Given the description of an element on the screen output the (x, y) to click on. 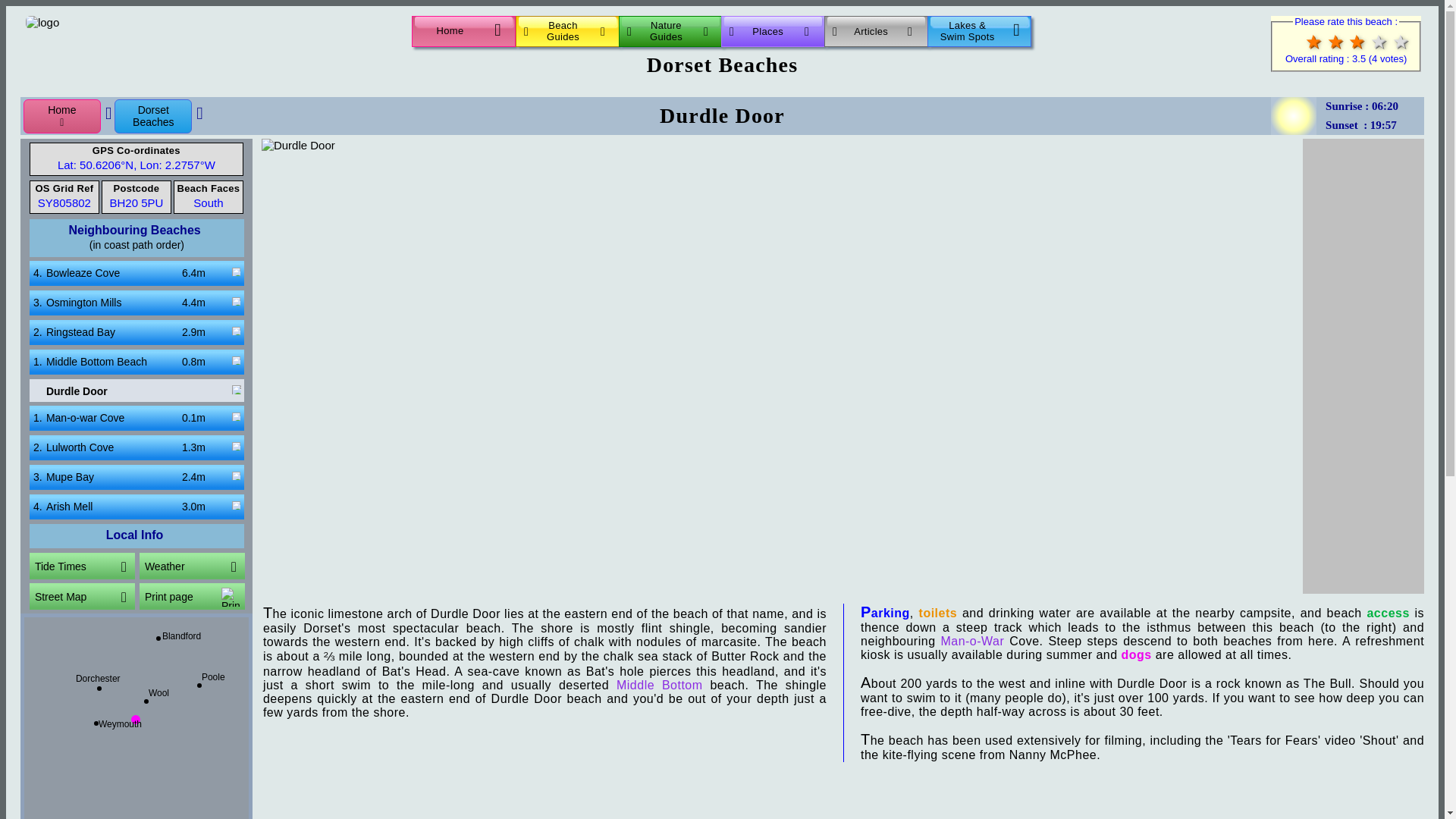
Nature Guides (136, 302)
Places (136, 447)
Beach Guides (153, 116)
Print page (670, 30)
Middle Bottom (772, 30)
